Given the description of an element on the screen output the (x, y) to click on. 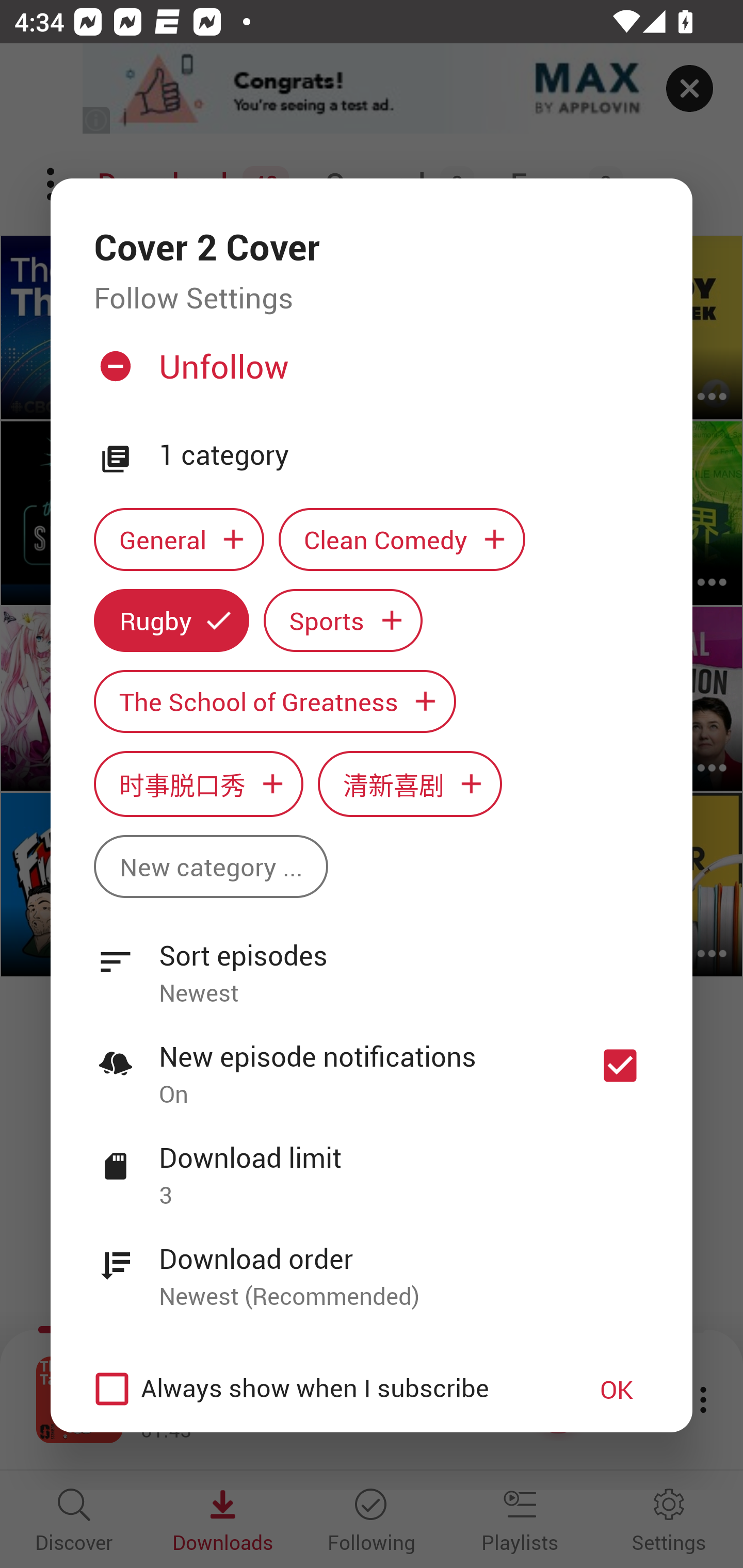
Unfollow (369, 374)
1 category (404, 455)
General (178, 539)
Clean Comedy (401, 539)
Rugby (170, 620)
Sports (342, 620)
The School of Greatness (274, 700)
时事脱口秀 (198, 783)
清新喜剧 (410, 783)
New category ... (210, 866)
Sort episodes Newest (371, 962)
New episode notifications (620, 1065)
Download limit 3 (371, 1164)
Download order Newest (Recommended) (371, 1266)
OK (616, 1388)
Always show when I subscribe (320, 1388)
